Given the description of an element on the screen output the (x, y) to click on. 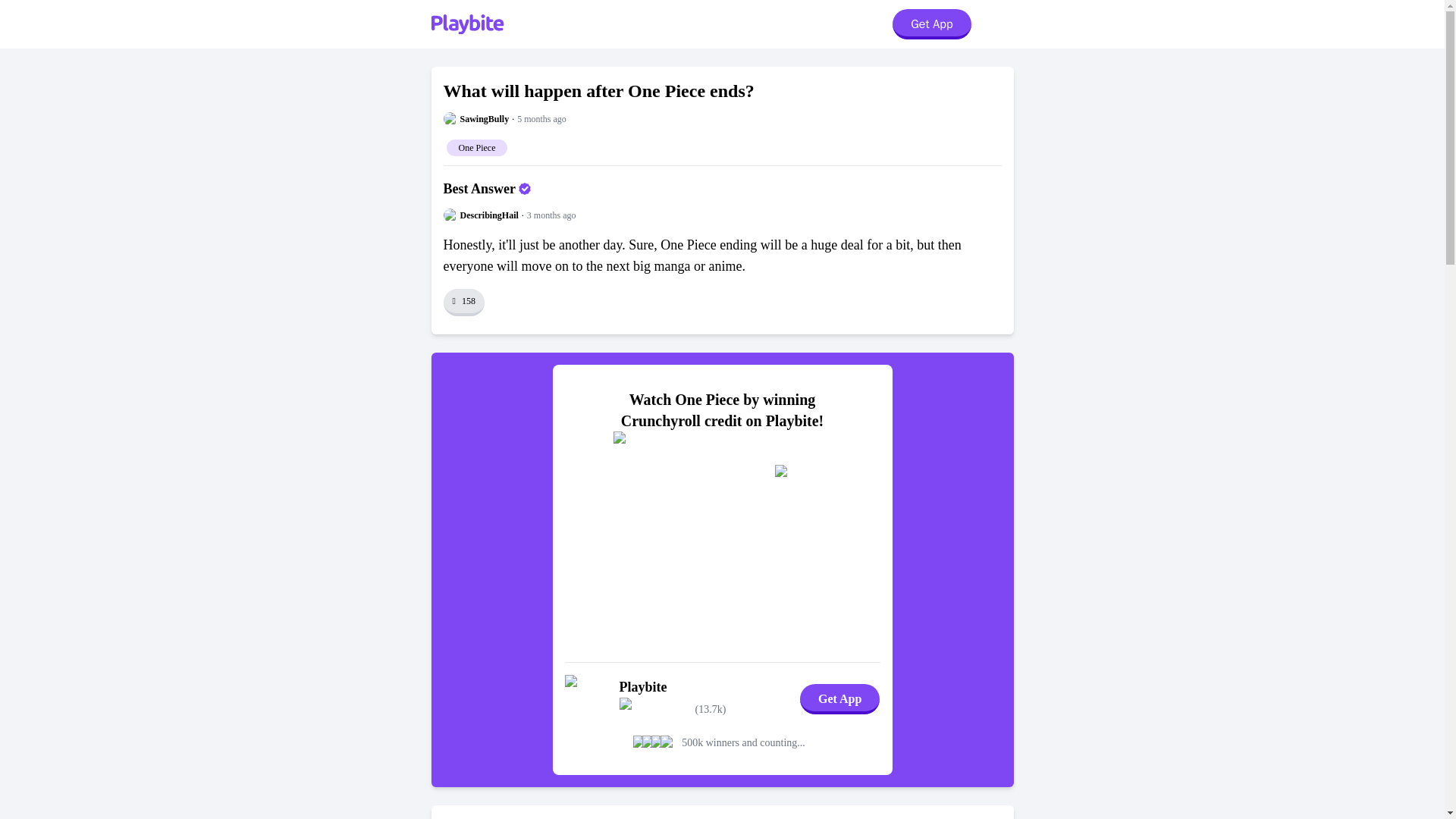
One Piece (475, 146)
Get App (839, 698)
Get App (931, 24)
